Given the description of an element on the screen output the (x, y) to click on. 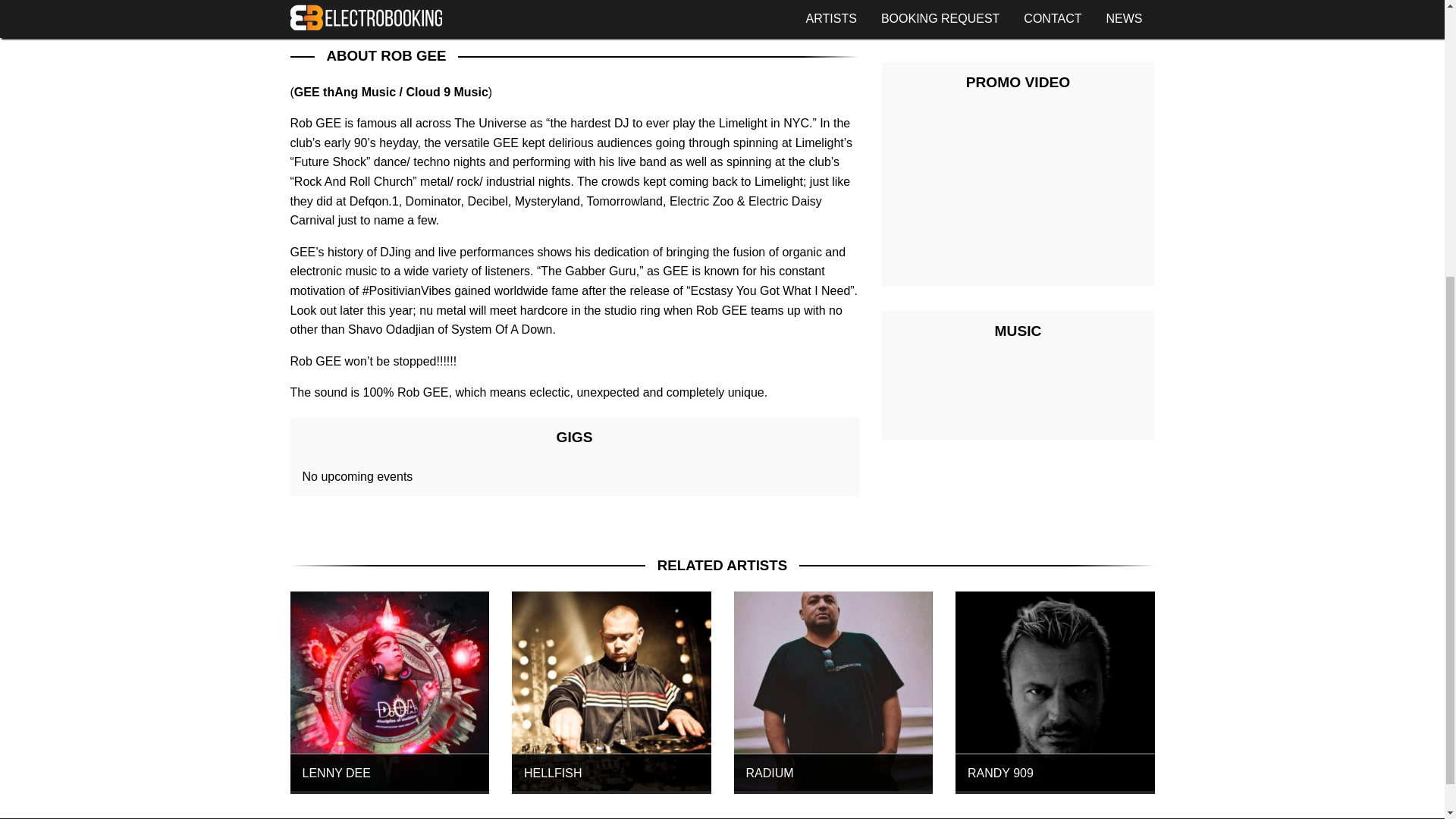
Rob GEE - My Voice My Words Mixtape by Rob GEE (1017, 394)
Spotify (561, 2)
RANDY 909 (1054, 692)
Youtube (444, 2)
Instagram (387, 2)
Beatport (502, 2)
RADIUM (833, 692)
HELLFISH (611, 692)
Soundcloud (619, 2)
Facebook (328, 2)
LENNY DEE (389, 692)
